Given the description of an element on the screen output the (x, y) to click on. 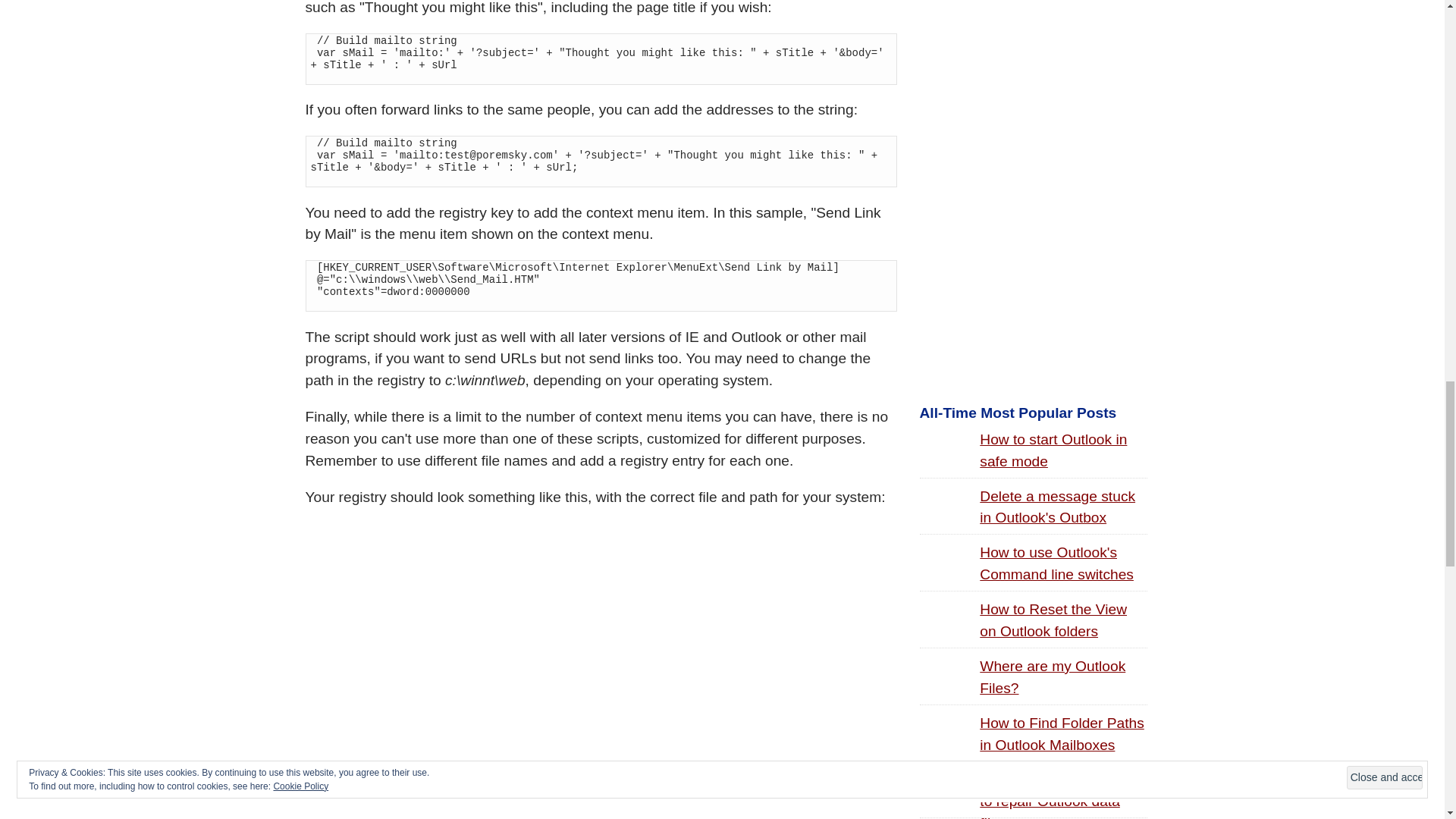
here (504, 790)
